Given the description of an element on the screen output the (x, y) to click on. 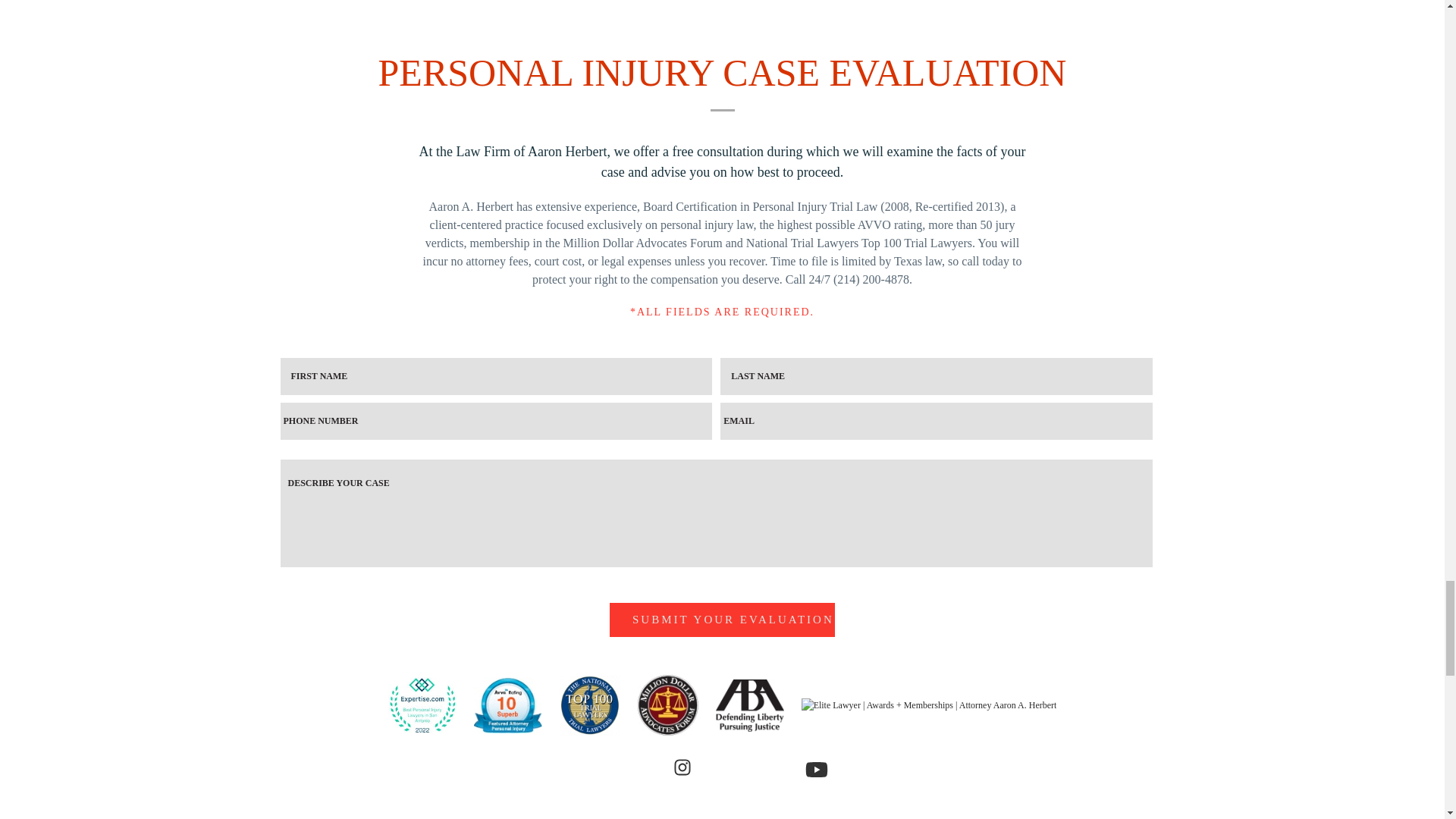
submit your evaluation (722, 619)
